Given the description of an element on the screen output the (x, y) to click on. 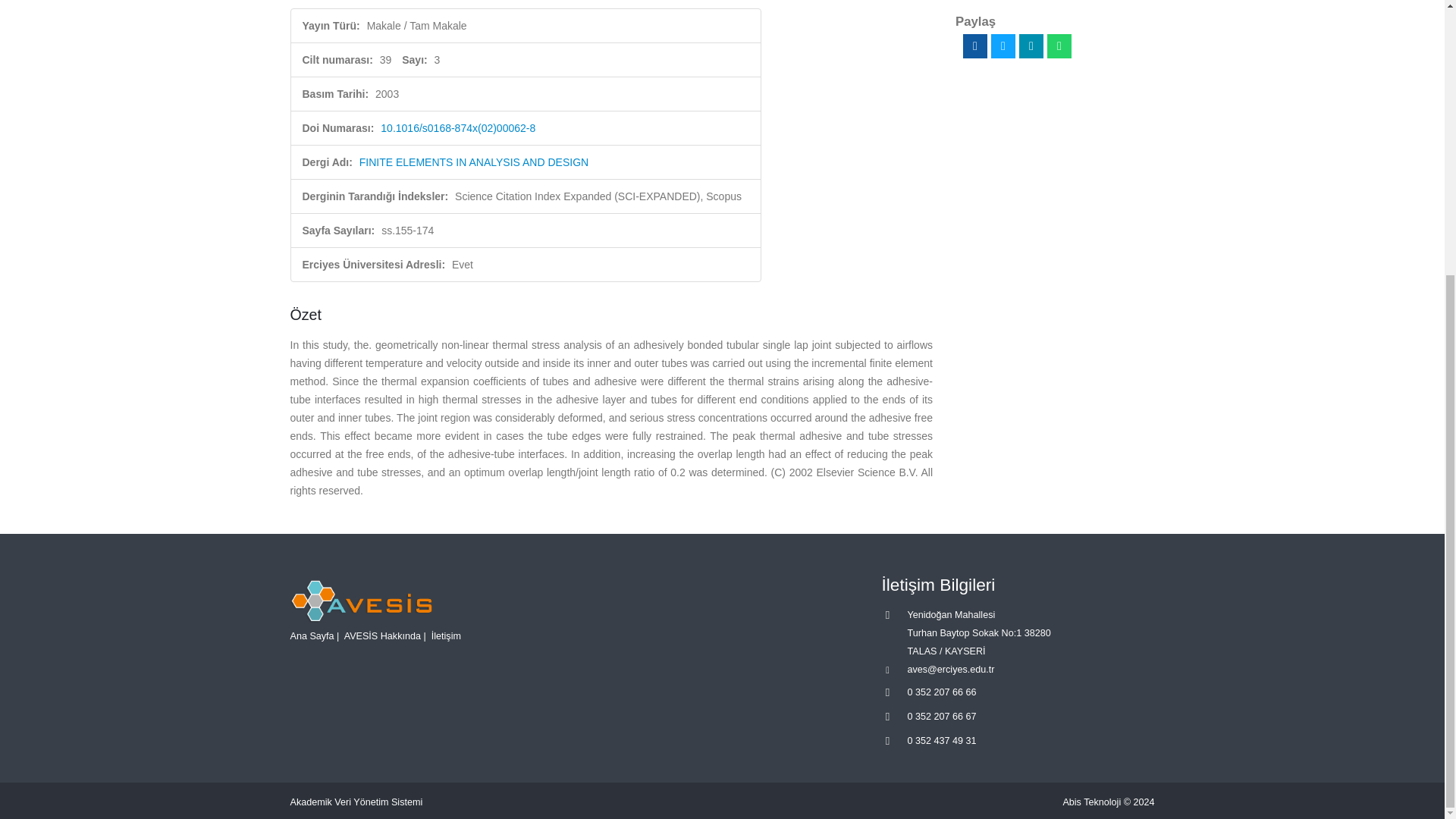
0 352 207 66 66 (941, 692)
Abis Teknoloji (1091, 801)
Ana Sayfa (311, 635)
0 352 437 49 31 (941, 740)
0 352 207 66 67 (941, 716)
FINITE ELEMENTS IN ANALYSIS AND DESIGN (473, 162)
